Given the description of an element on the screen output the (x, y) to click on. 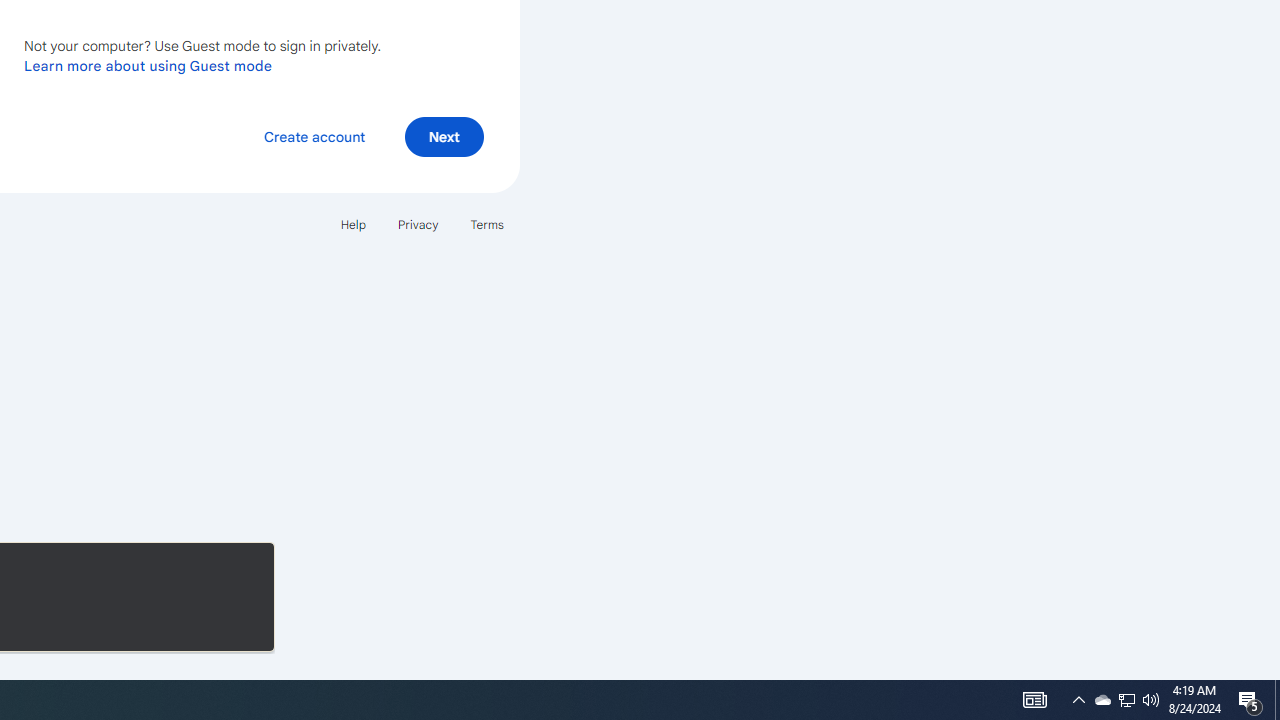
Learn more about using Guest mode (148, 65)
Create account (314, 135)
